Given the description of an element on the screen output the (x, y) to click on. 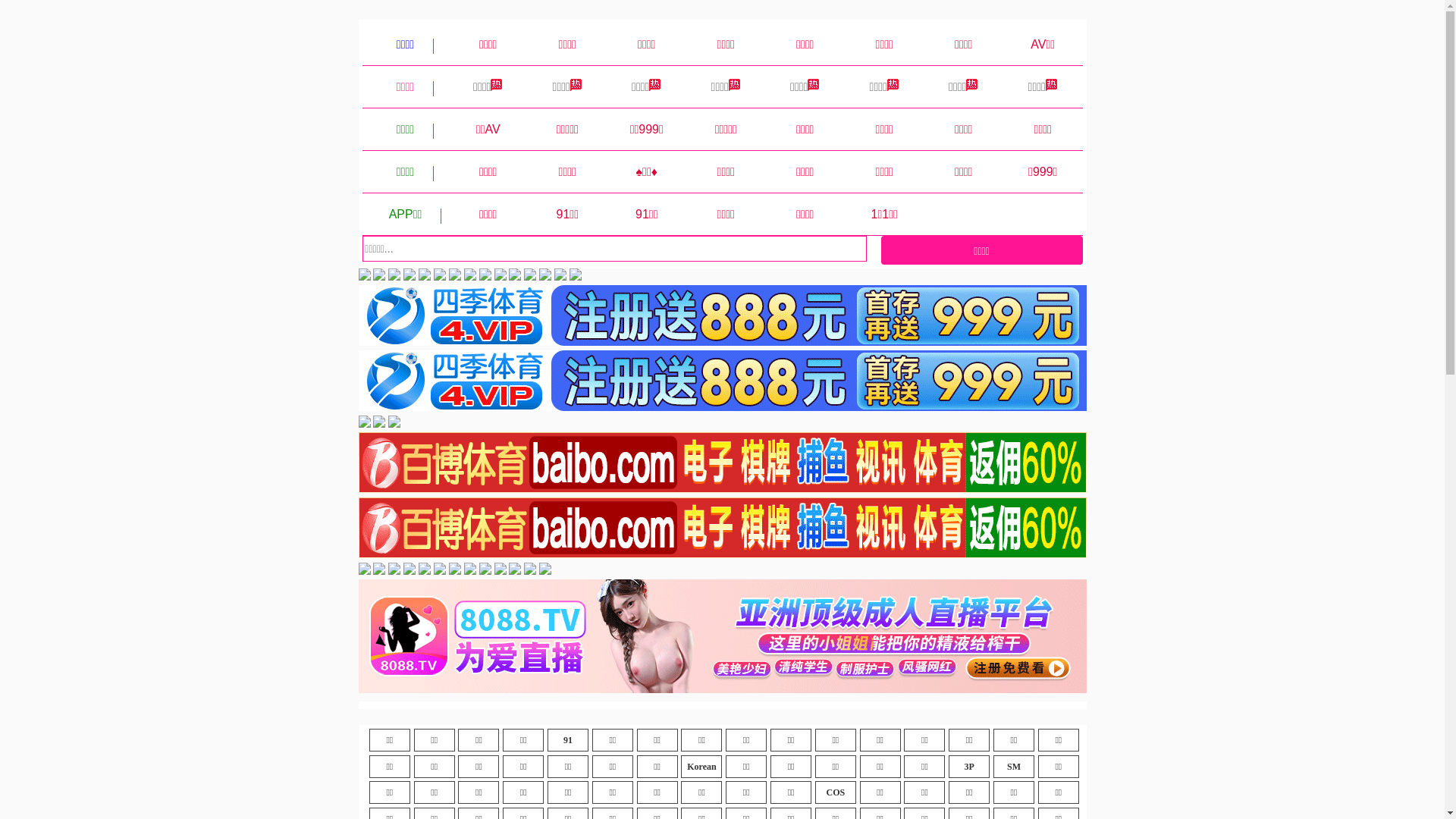
3P Element type: text (968, 766)
Korean Element type: text (700, 766)
91 Element type: text (567, 739)
SM Element type: text (1013, 766)
COS Element type: text (835, 792)
